Given the description of an element on the screen output the (x, y) to click on. 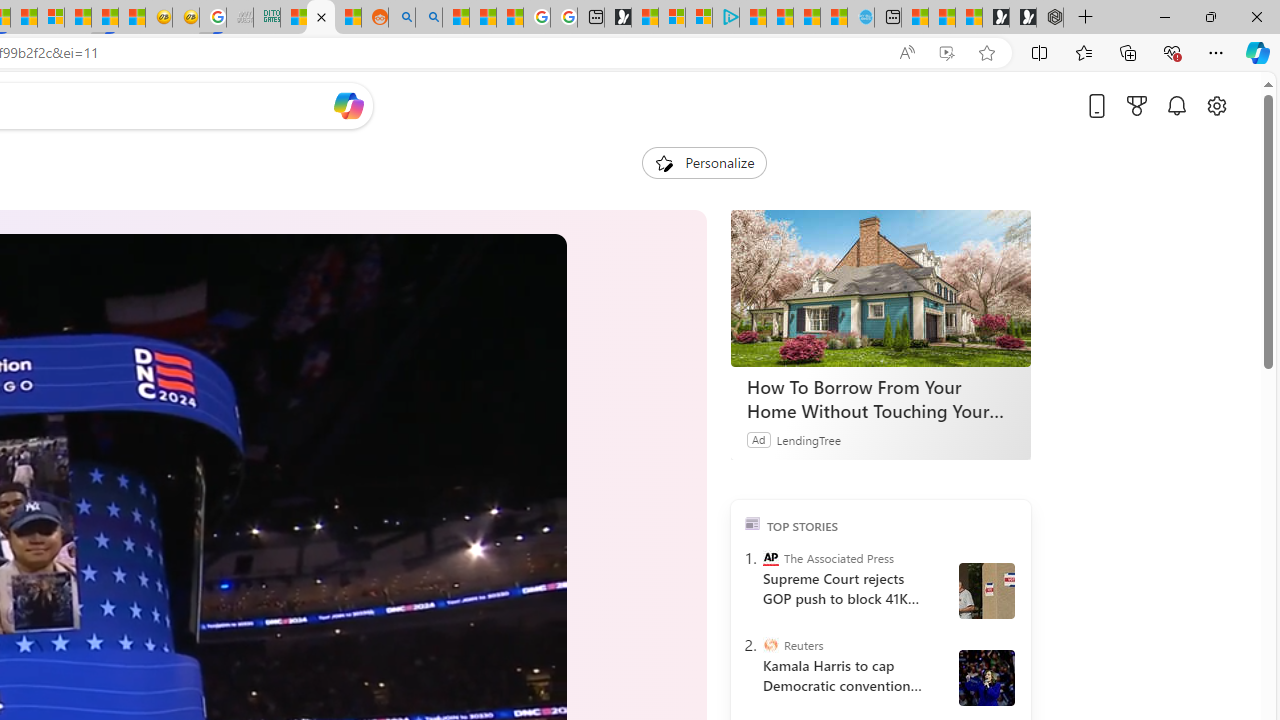
Enhance video (946, 53)
The Associated Press (770, 557)
